Given the description of an element on the screen output the (x, y) to click on. 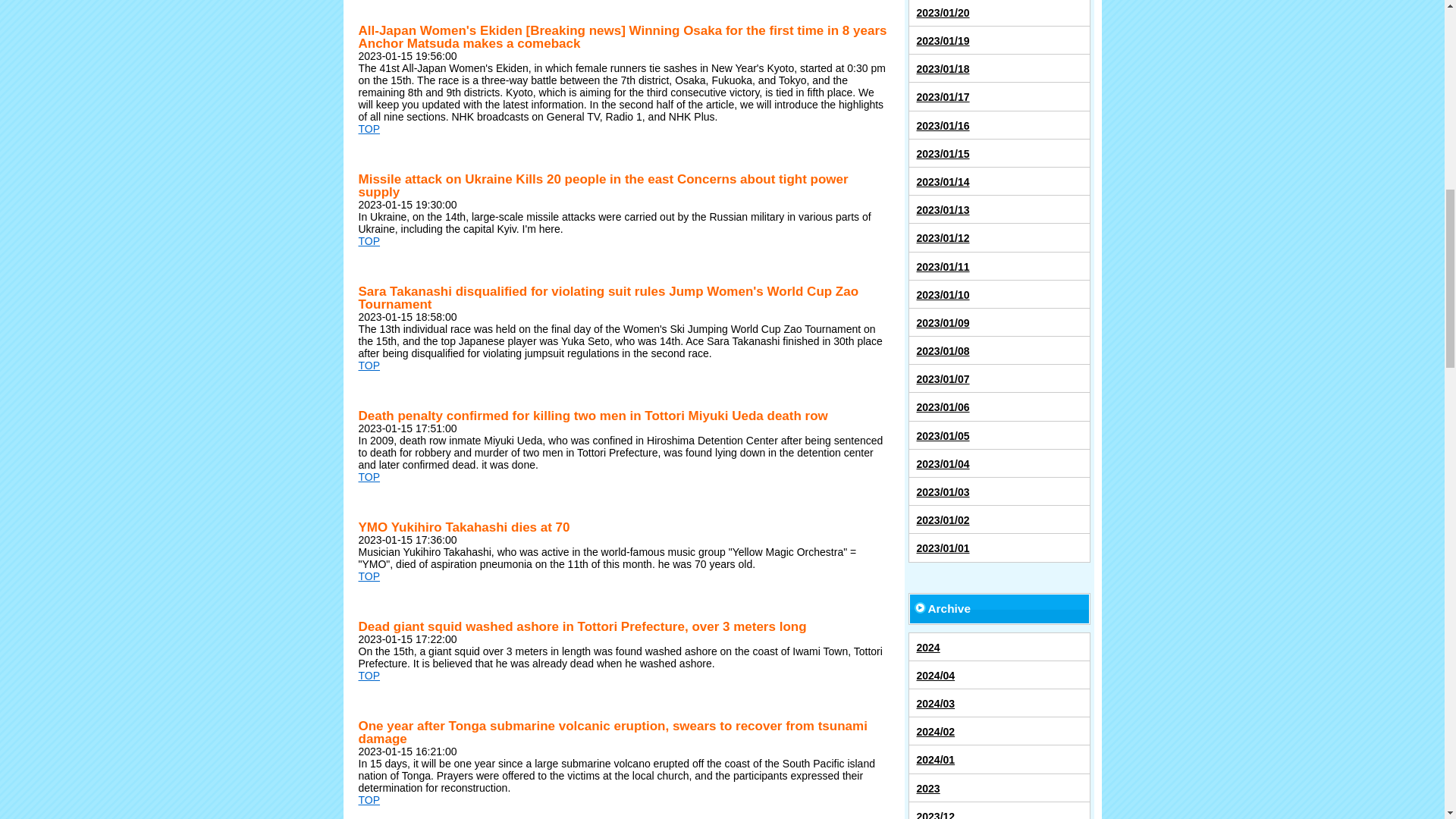
TOP (369, 476)
TOP (369, 365)
TOP (369, 799)
TOP (369, 675)
TOP (369, 241)
TOP (369, 576)
TOP (369, 128)
